Given the description of an element on the screen output the (x, y) to click on. 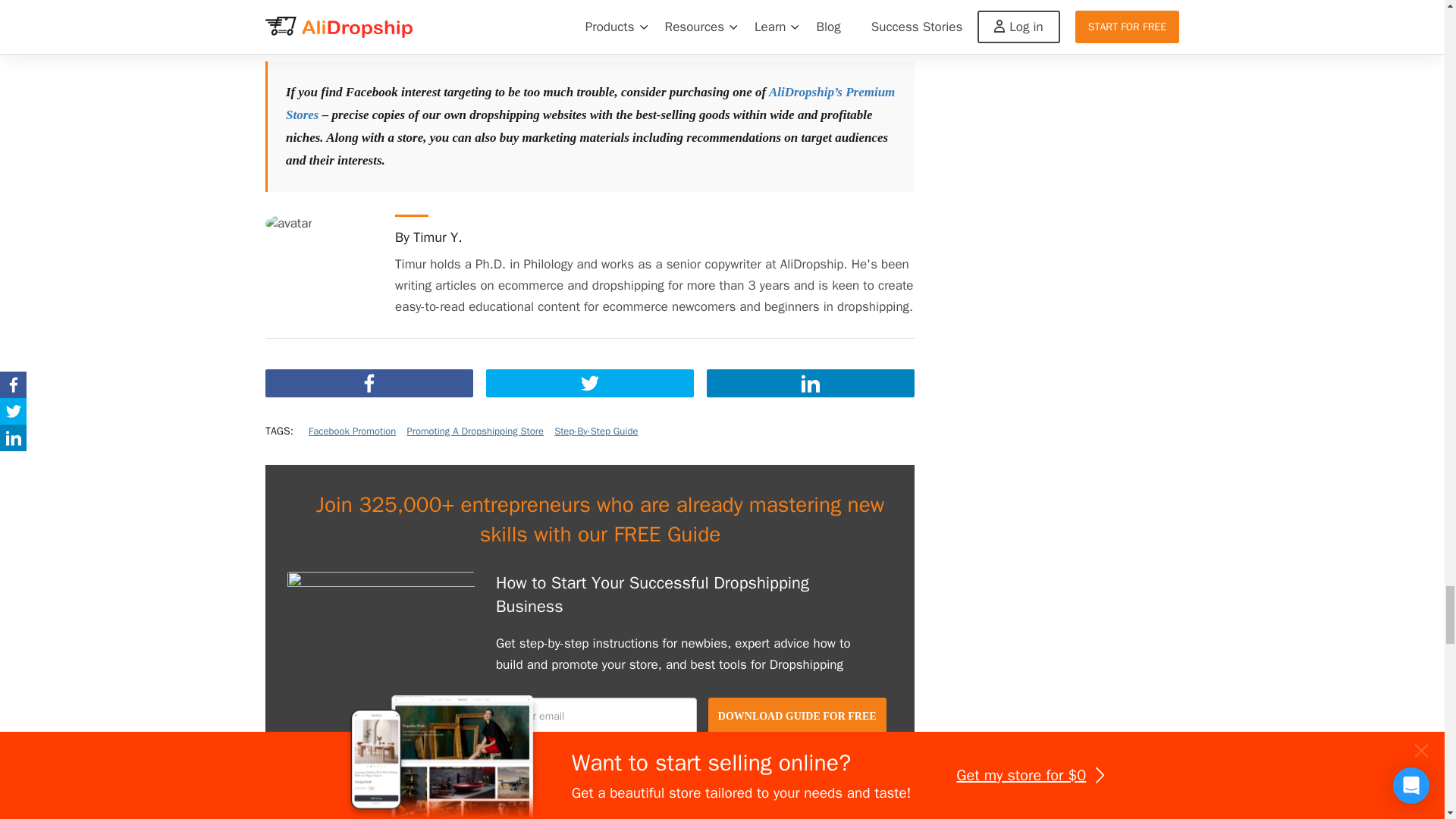
Share with Facebook (368, 382)
Share with Twitter (590, 382)
Share with LinkedIn (810, 382)
